Given the description of an element on the screen output the (x, y) to click on. 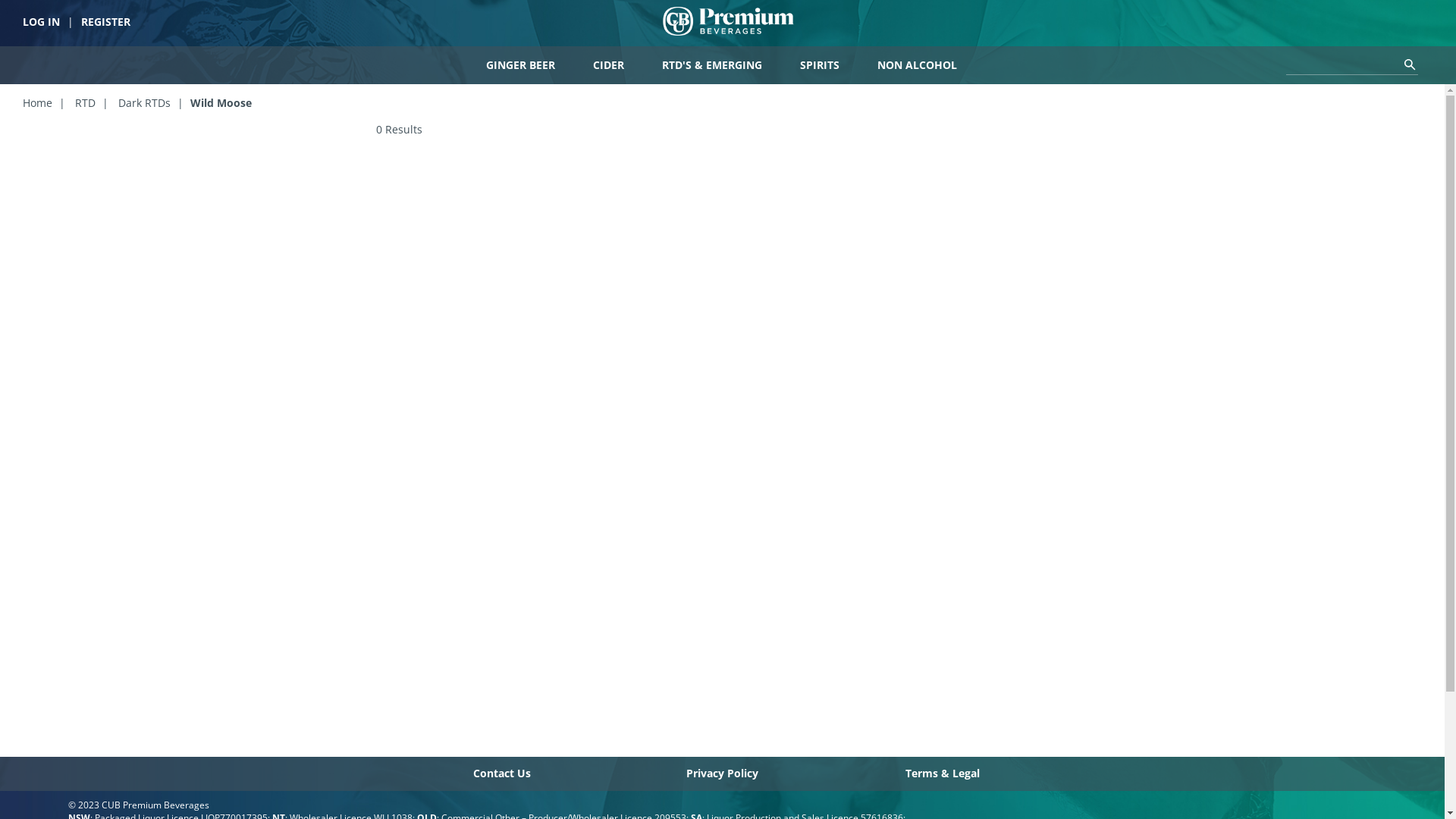
REGISTER Element type: text (105, 21)
Dark RTDs Element type: text (144, 102)
CIDER Element type: text (608, 65)
Contact Us Element type: text (501, 772)
Home Element type: text (37, 102)
Terms & Legal Element type: text (942, 772)
RTD Element type: text (85, 102)
NON ALCOHOL Element type: text (916, 65)
SPIRITS Element type: text (819, 65)
LOG IN Element type: text (40, 21)
Privacy Policy Element type: text (722, 772)
RTD'S & EMERGING Element type: text (712, 65)
GINGER BEER Element type: text (520, 65)
